Given the description of an element on the screen output the (x, y) to click on. 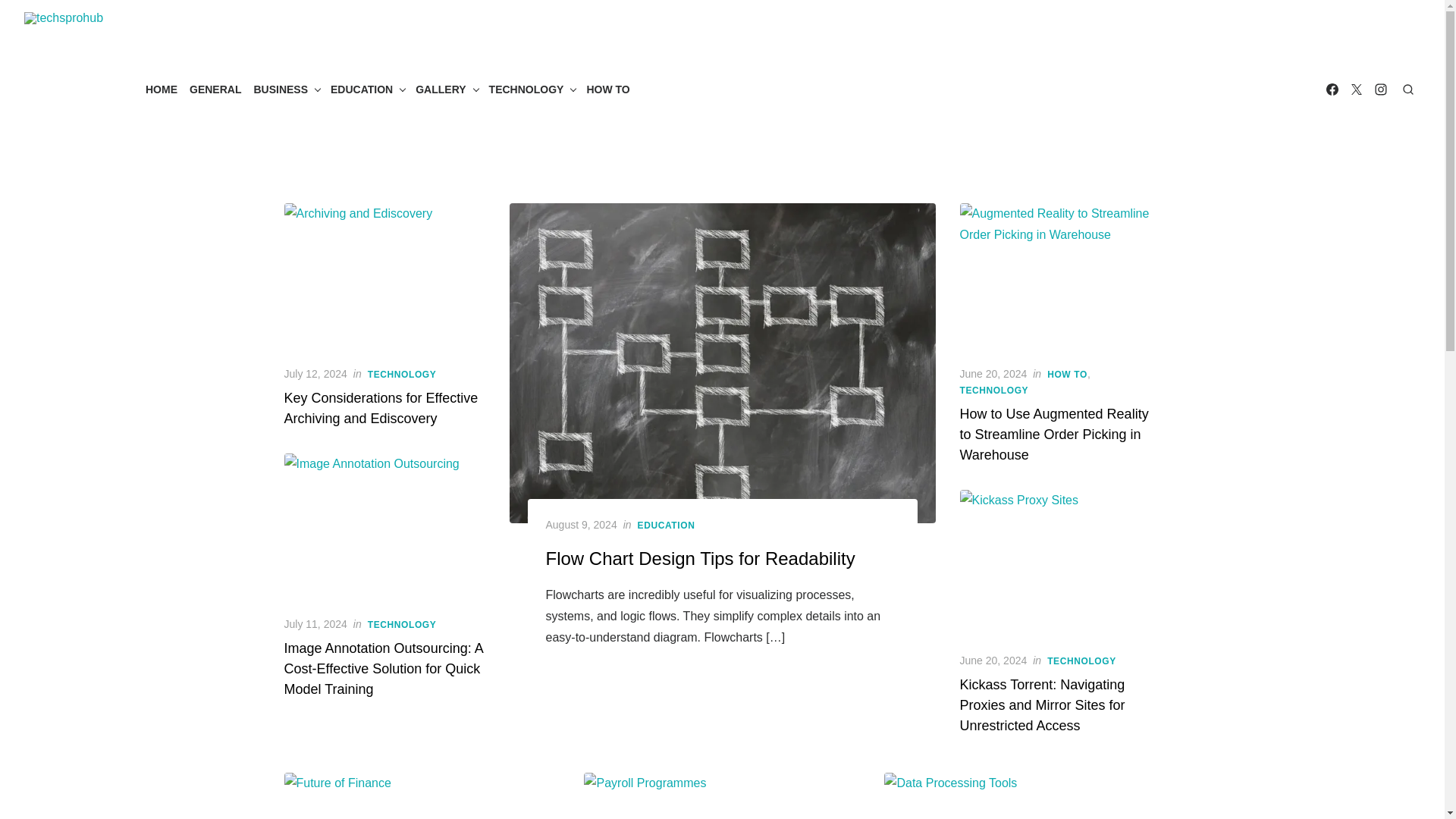
EDUCATION (666, 525)
GALLERY (445, 88)
Flow Chart Design Tips for Readability (701, 557)
August 9, 2024 (581, 524)
BUSINESS (285, 88)
HOME (161, 88)
TECHNOLOGY (532, 88)
GENERAL (215, 88)
HOW TO (607, 88)
EDUCATION (366, 88)
